Given the description of an element on the screen output the (x, y) to click on. 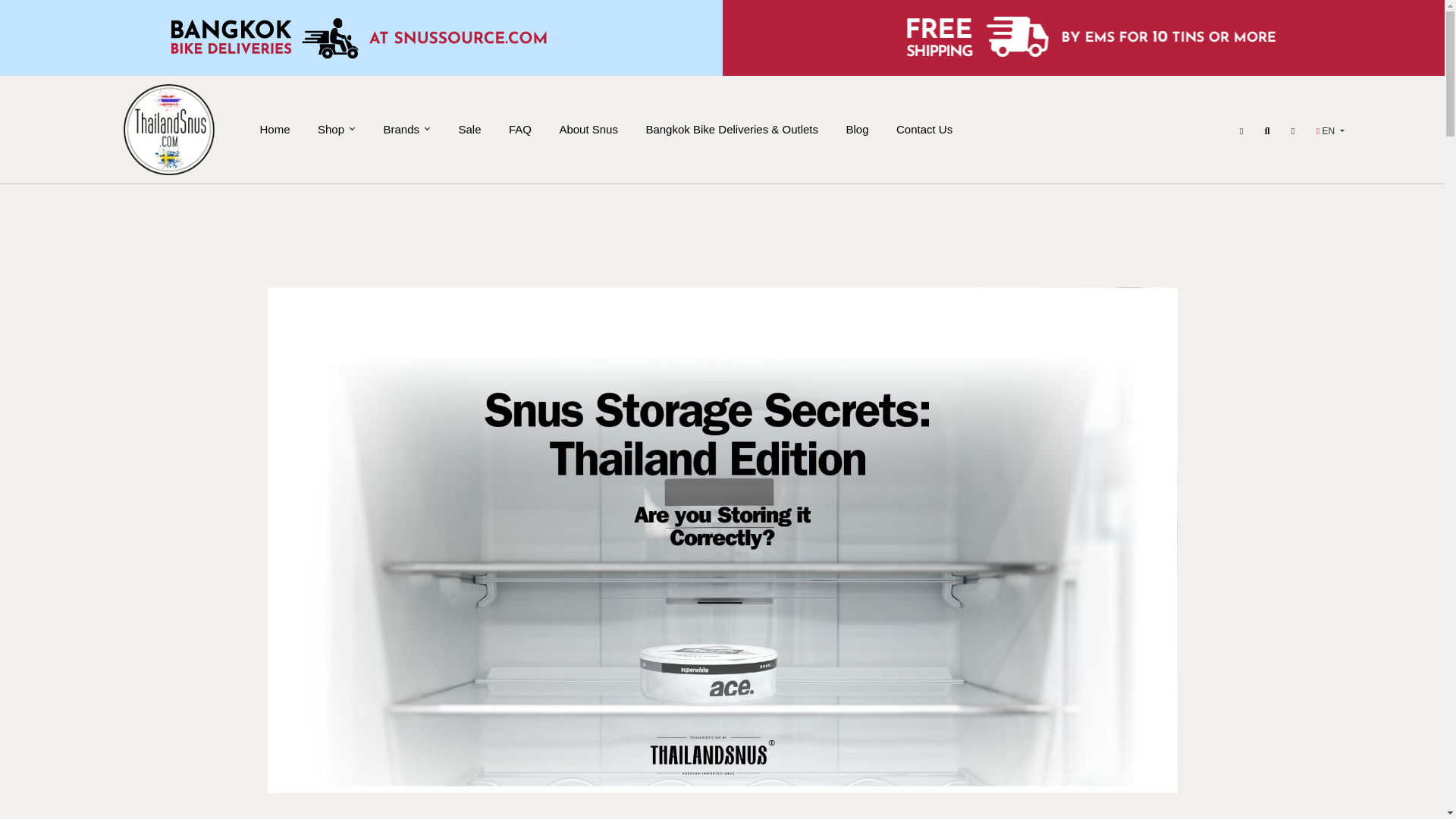
Home (274, 129)
Shop (336, 129)
Brands (406, 129)
EN (1329, 131)
